Given the description of an element on the screen output the (x, y) to click on. 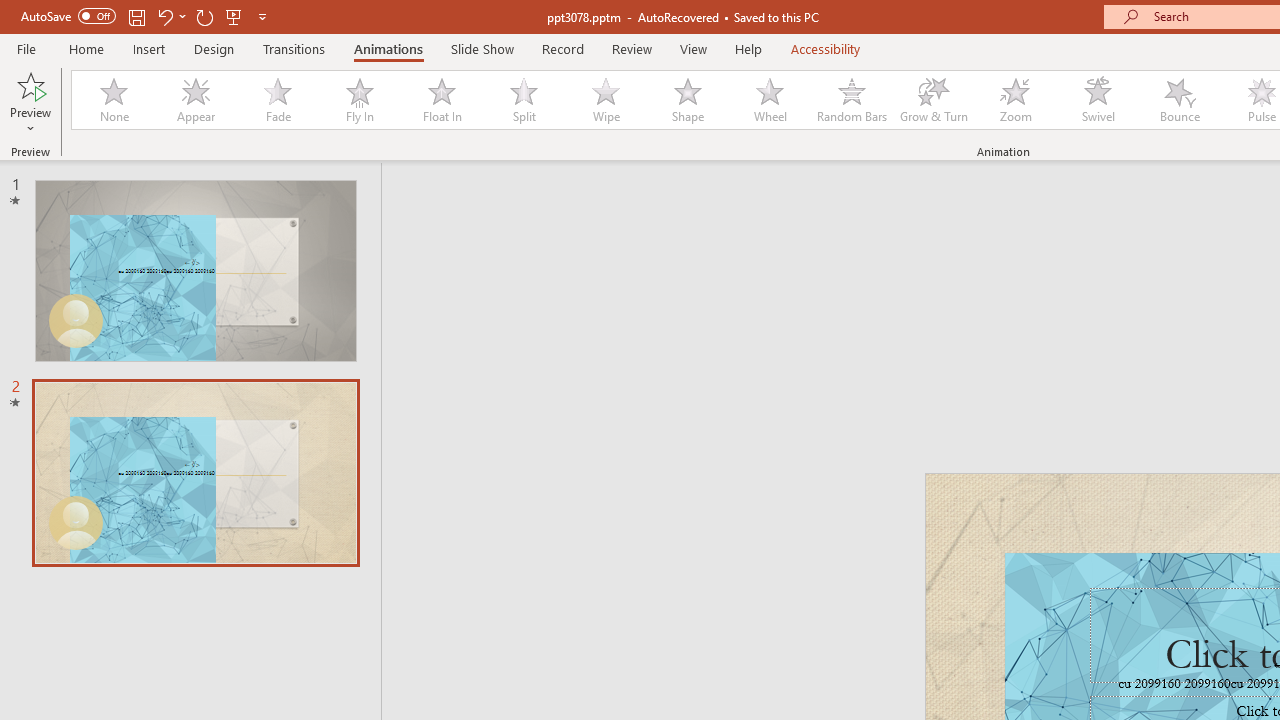
Grow & Turn (934, 100)
Shape (687, 100)
Fade (277, 100)
Wheel (770, 100)
Fly In (359, 100)
Float In (441, 100)
